Given the description of an element on the screen output the (x, y) to click on. 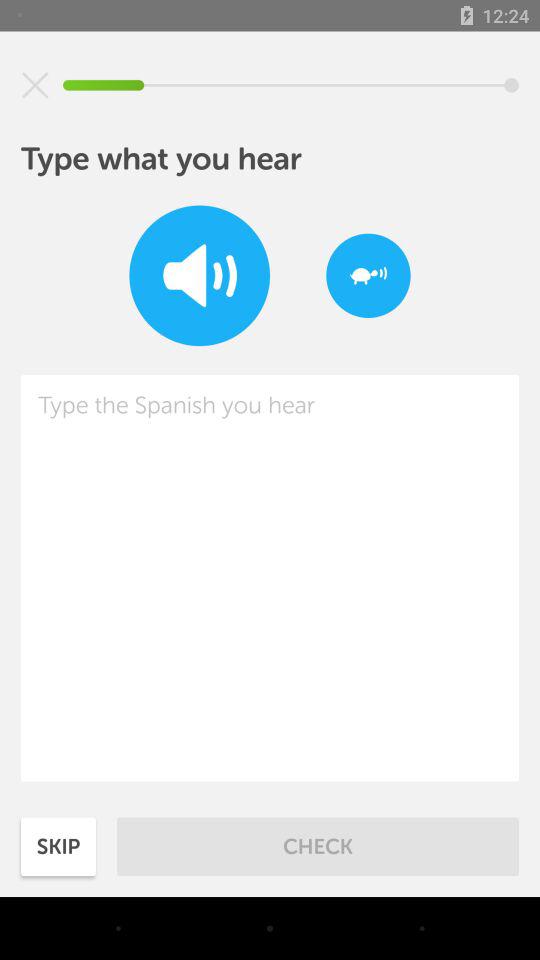
slow talking button (368, 275)
